Given the description of an element on the screen output the (x, y) to click on. 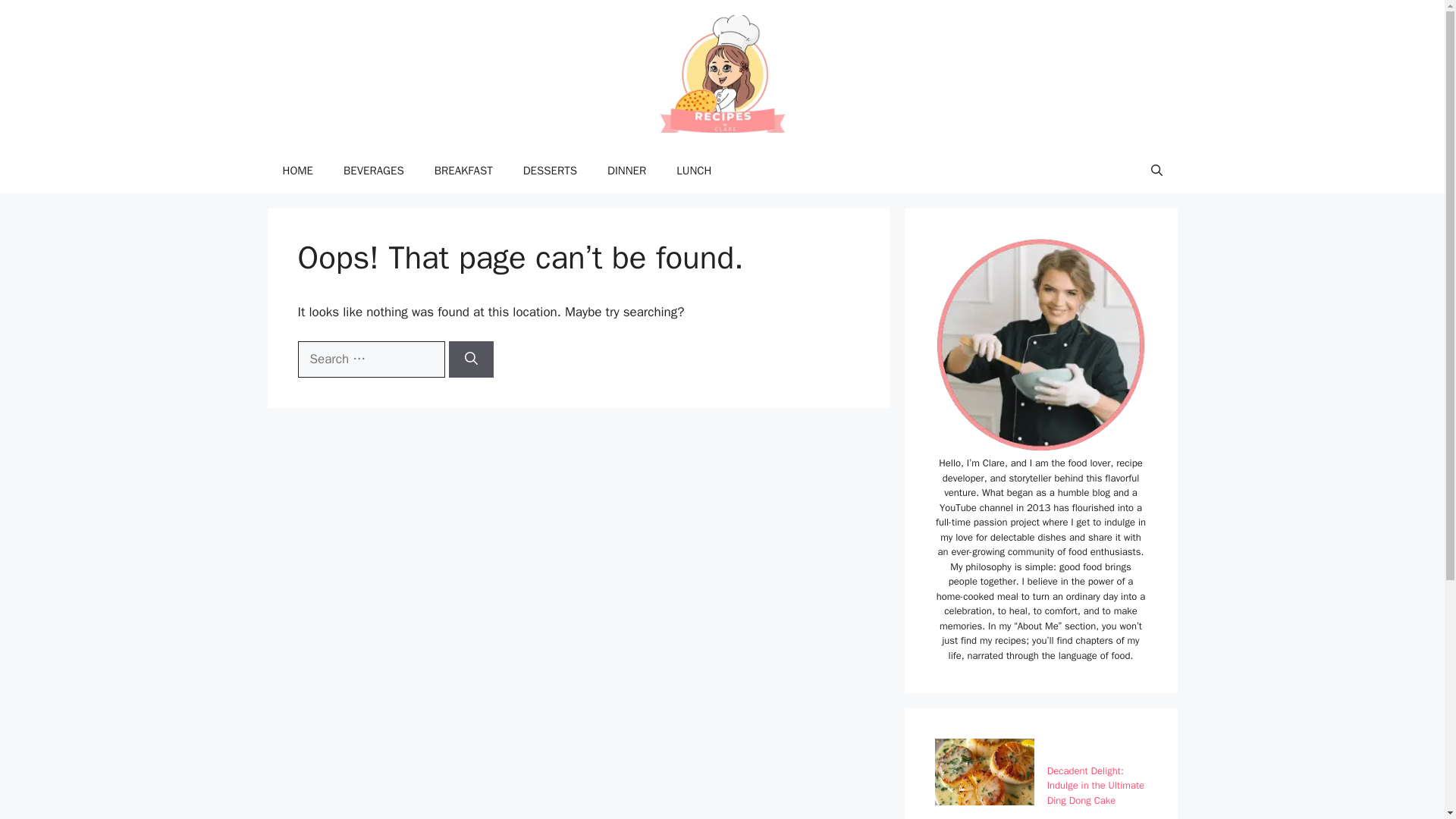
Search for: (370, 359)
DESSERTS (550, 170)
LUNCH (693, 170)
Decadent Delight: Indulge in the Ultimate Ding Dong Cake (1095, 785)
BREAKFAST (463, 170)
HOME (296, 170)
DINNER (626, 170)
BEVERAGES (374, 170)
